Given the description of an element on the screen output the (x, y) to click on. 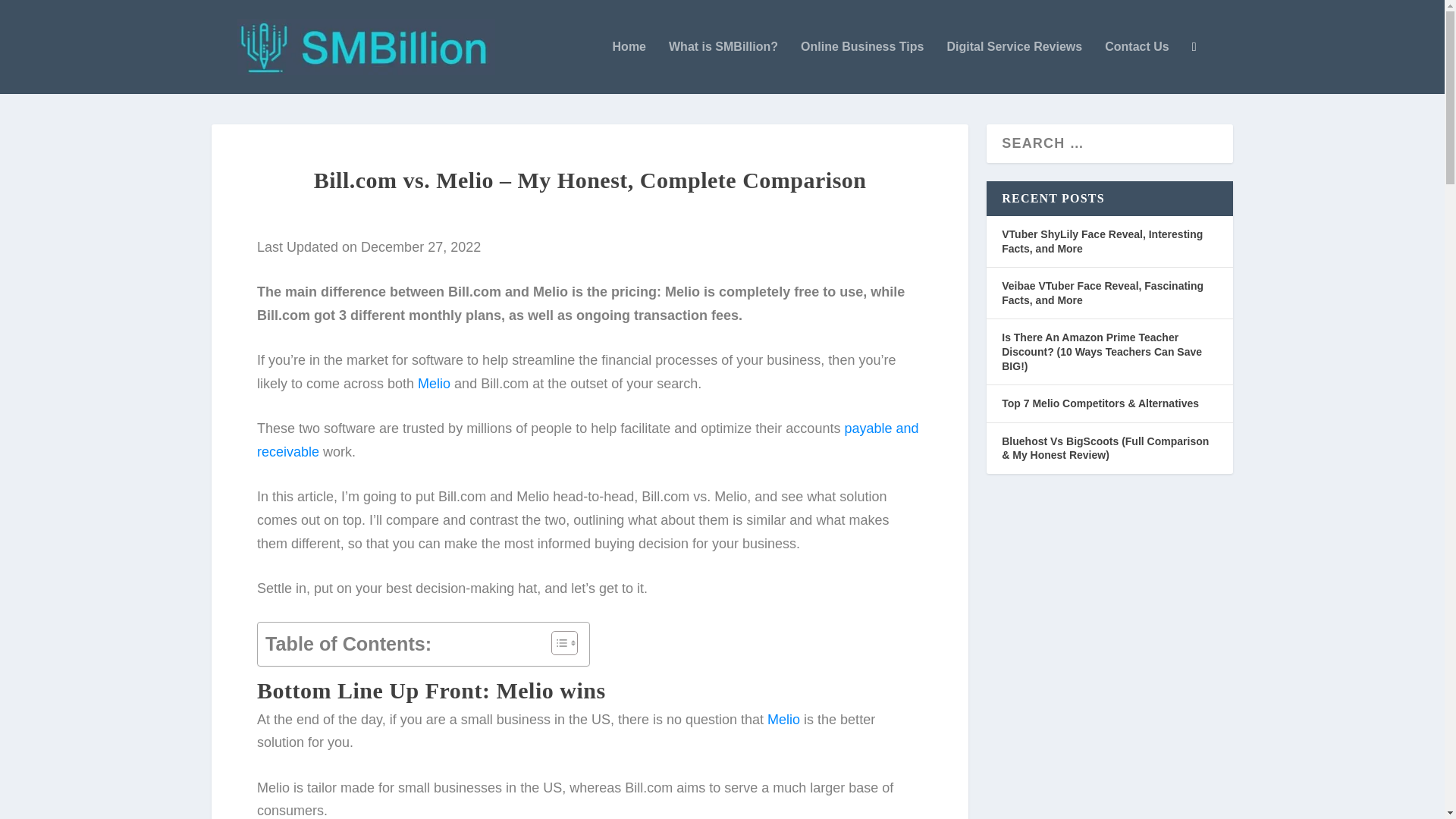
Contact Us (1137, 67)
Digital Service Reviews (1013, 67)
Home (629, 67)
Melio (783, 719)
Melio (433, 383)
payable and receivable (587, 439)
Online Business Tips (861, 67)
What is SMBillion? (722, 67)
